Given the description of an element on the screen output the (x, y) to click on. 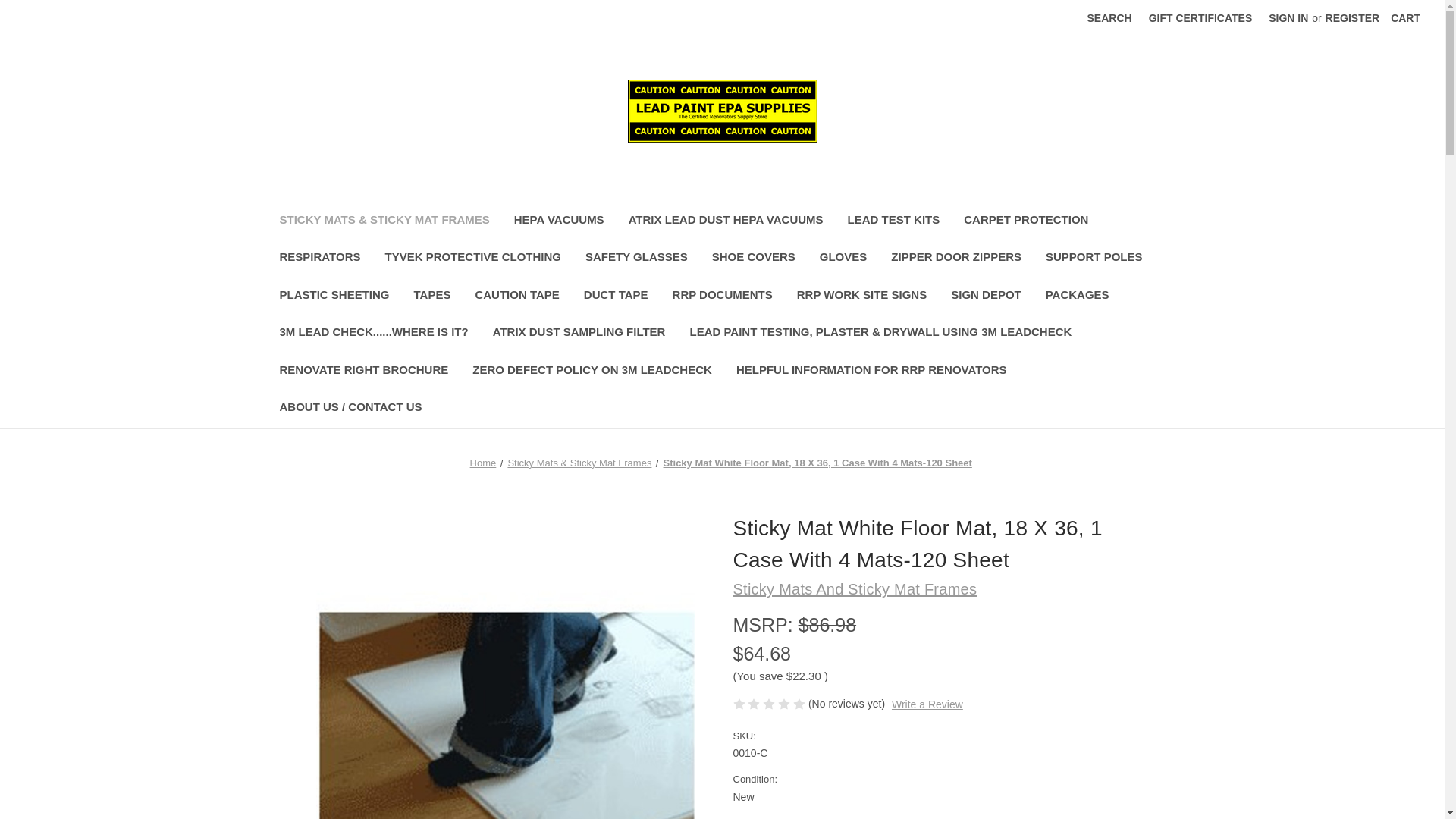
HELPFUL INFORMATION FOR RRP RENOVATORS (871, 371)
3M LEAD CHECK......WHERE IS IT? (373, 333)
ZERO DEFECT POLICY ON 3M LEADCHECK (591, 371)
TYVEK PROTECTIVE CLOTHING (472, 258)
RESPIRATORS (319, 258)
SIGN IN (1288, 18)
ZIPPER DOOR ZIPPERS (956, 258)
GLOVES (843, 258)
PLASTIC SHEETING (333, 296)
DUCT TAPE (616, 296)
ATRIX DUST SAMPLING FILTER (579, 333)
RRP DOCUMENTS (722, 296)
RRP WORK SITE SIGNS (861, 296)
GIFT CERTIFICATES (1200, 18)
